Given the description of an element on the screen output the (x, y) to click on. 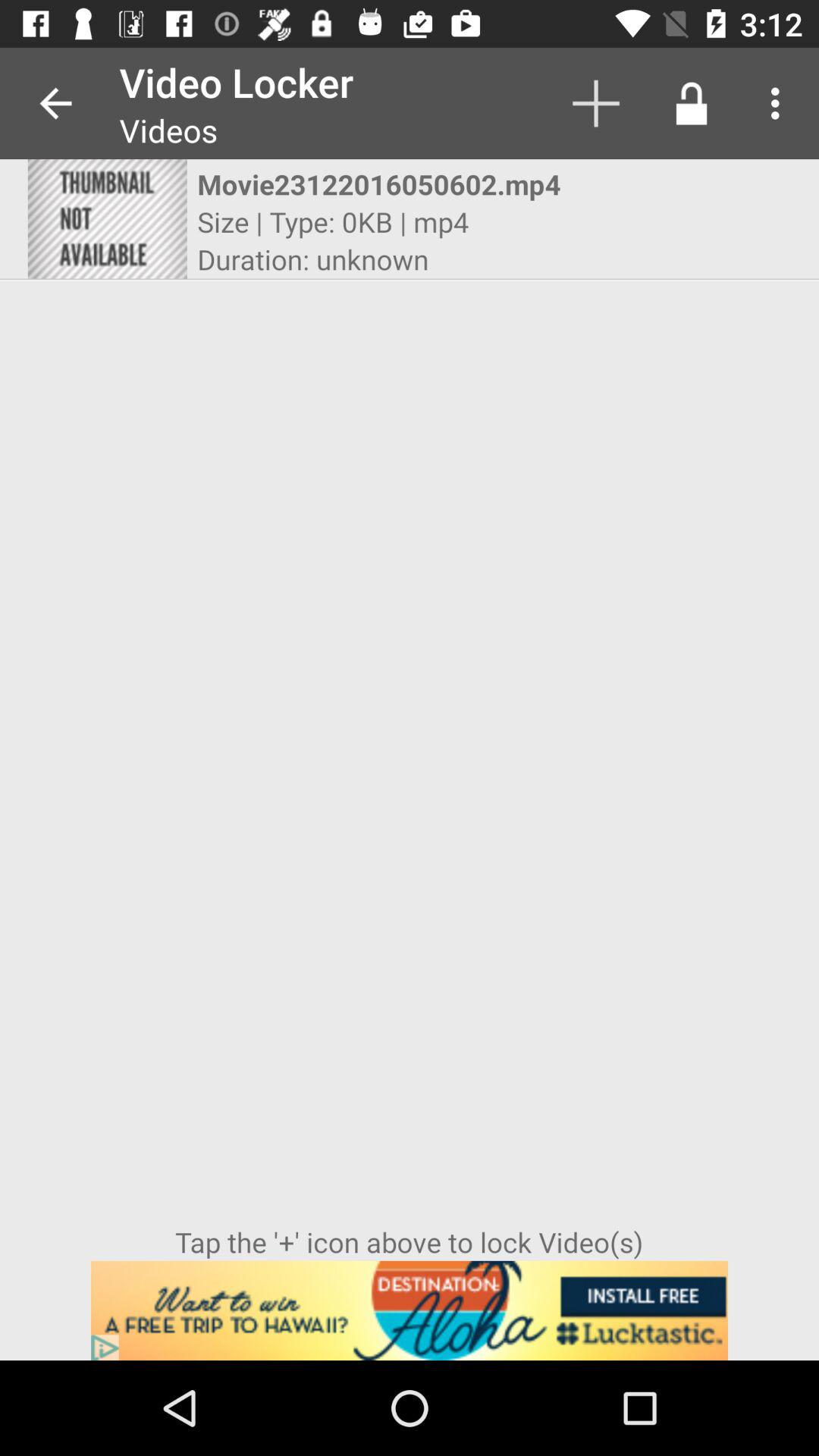
turn on the icon to the left of video locker item (55, 103)
